Given the description of an element on the screen output the (x, y) to click on. 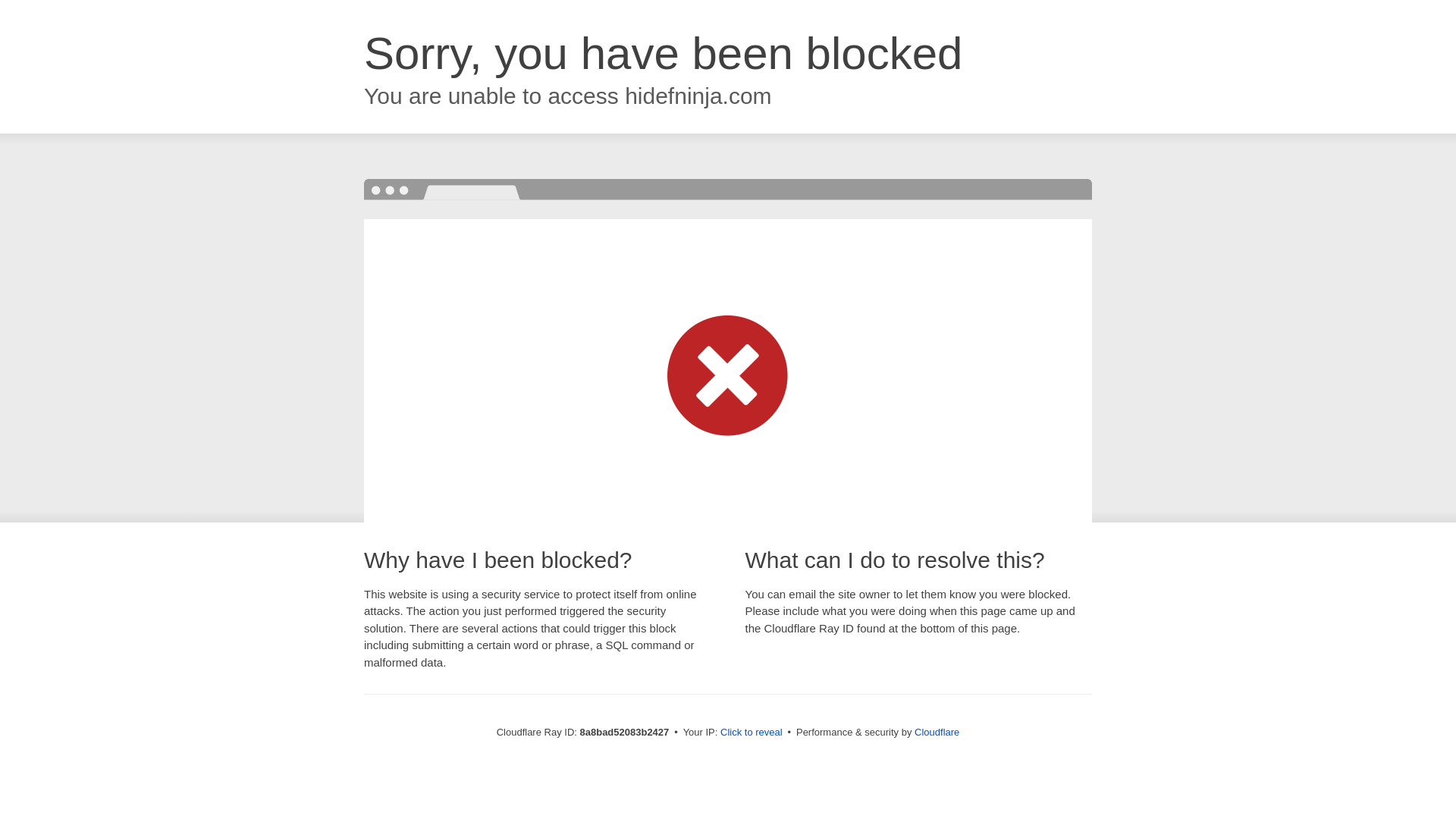
Cloudflare (936, 731)
Click to reveal (751, 732)
